Given the description of an element on the screen output the (x, y) to click on. 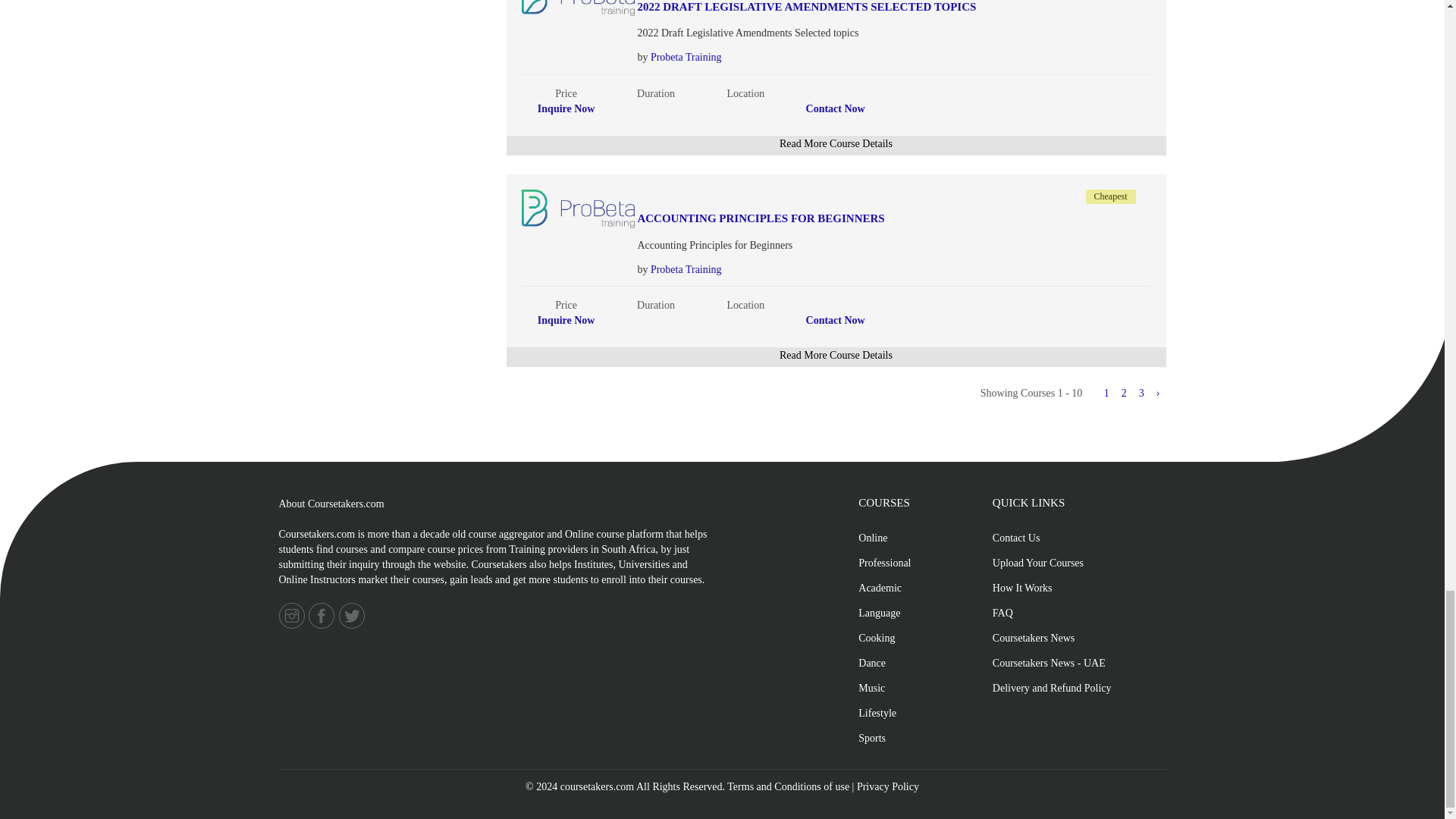
Accounting Principles for Beginners (838, 218)
2022 Draft Legislative Amendments Selected Topics (838, 6)
